Given the description of an element on the screen output the (x, y) to click on. 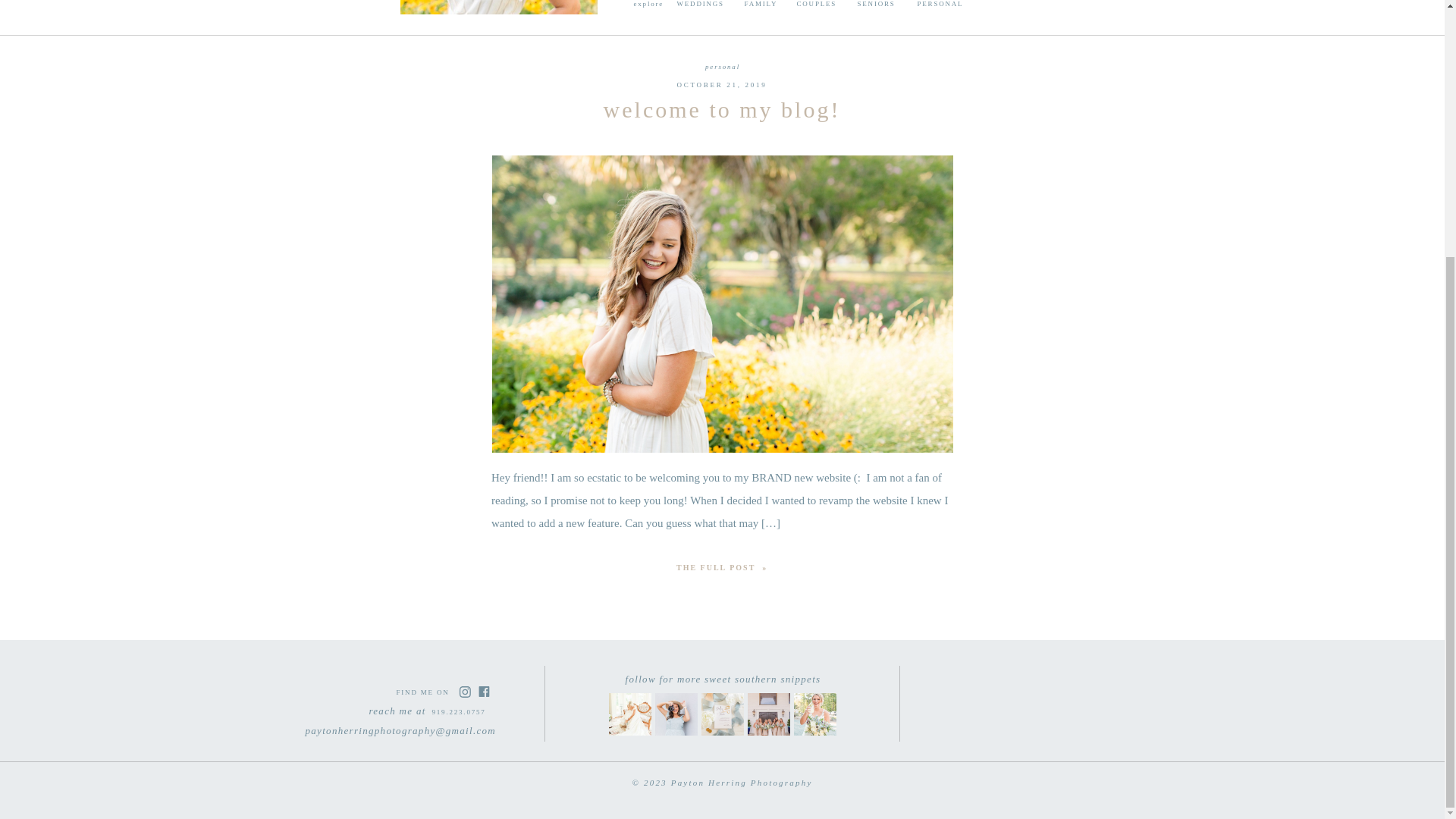
FIND ME ON (425, 691)
SENIORS (882, 7)
FAMILY (777, 7)
Instagram-color Created with Sketch. (464, 691)
welcome to my blog! (722, 109)
Payton Herring Photography - 2022 -4181 (676, 713)
personal (721, 66)
0O0A2011 (722, 713)
Welcome to my blog! (722, 566)
WEDDINGS (709, 7)
